Given the description of an element on the screen output the (x, y) to click on. 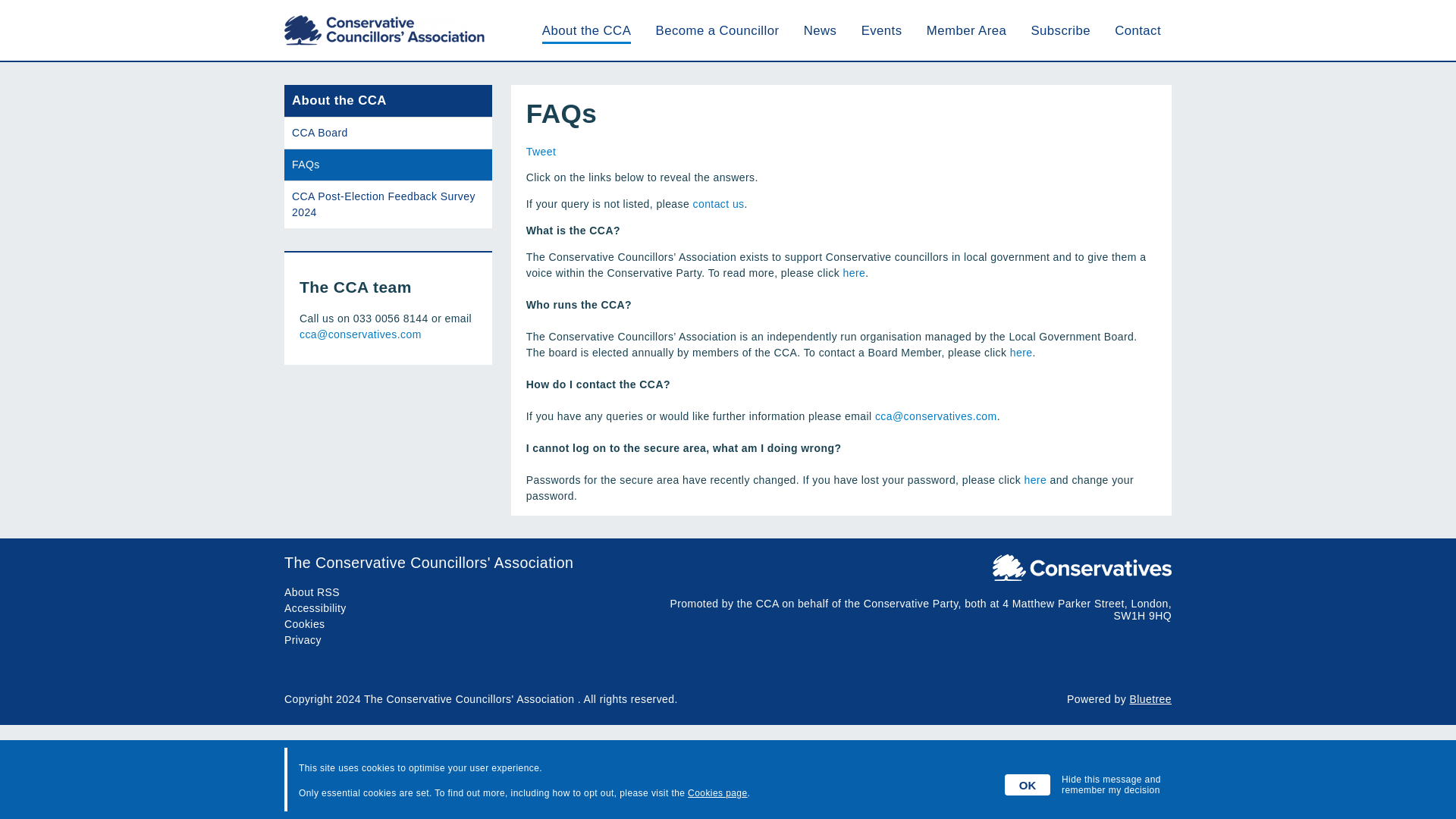
here (1034, 480)
FAQs (387, 164)
Cookies (303, 623)
Member Area (966, 29)
Member Area (966, 29)
The Conservative Councillors' Association (727, 562)
Tweet (540, 151)
Contact (1137, 29)
Become a Councillor (717, 29)
contact us (718, 203)
FAQs (387, 164)
About the CCA (585, 29)
Subscribe (1060, 29)
Bluetree (1150, 698)
